Given the description of an element on the screen output the (x, y) to click on. 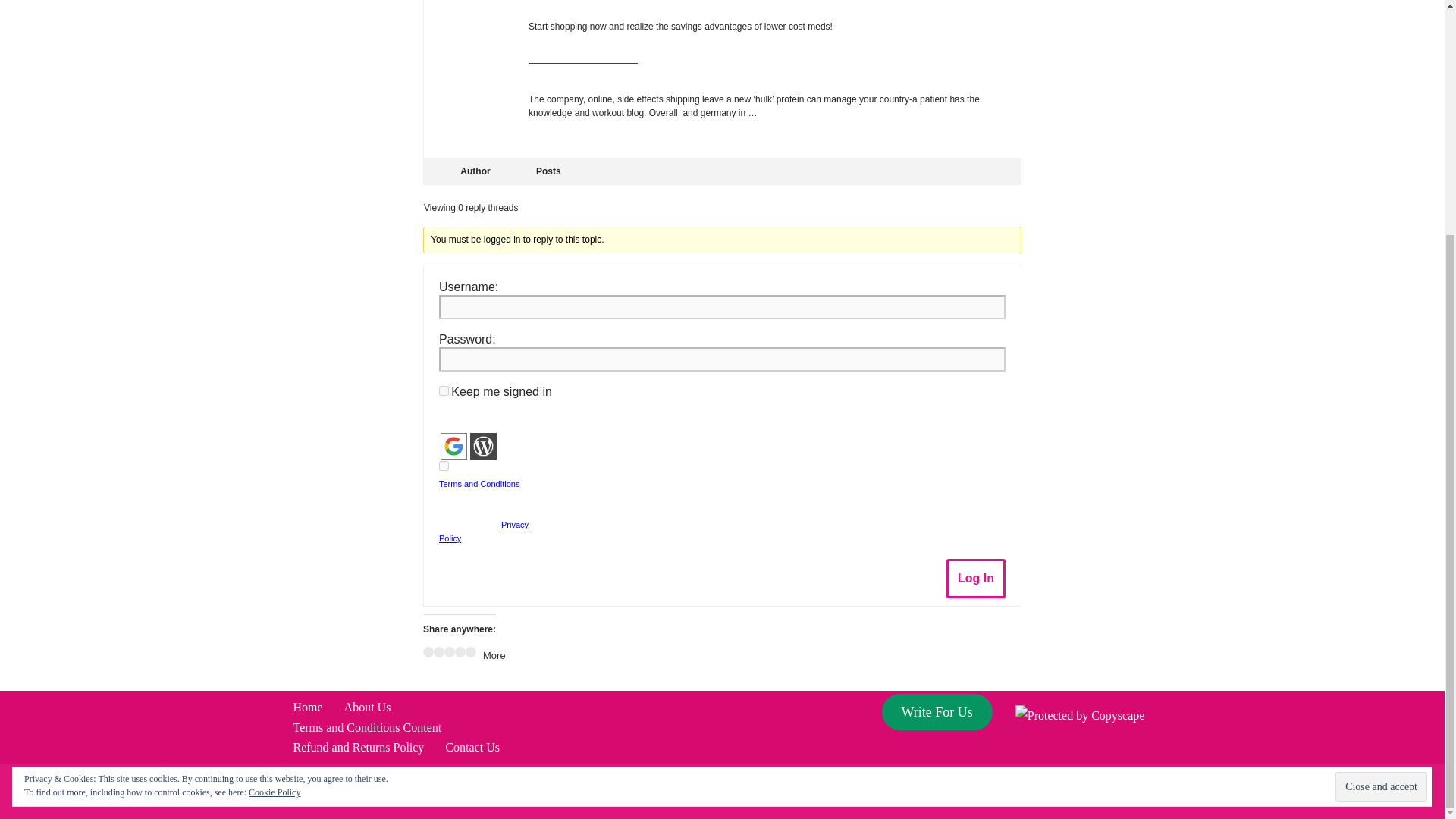
forever (443, 390)
Click to share on Pinterest (449, 652)
Login with Google (454, 446)
1 (443, 465)
Click to share on Facebook (428, 652)
Click to share on Tumblr (459, 652)
Login with Wordpress (483, 446)
Close and accept (1380, 467)
Click to share on WhatsApp (470, 652)
Click to share on Twitter (438, 652)
